Given the description of an element on the screen output the (x, y) to click on. 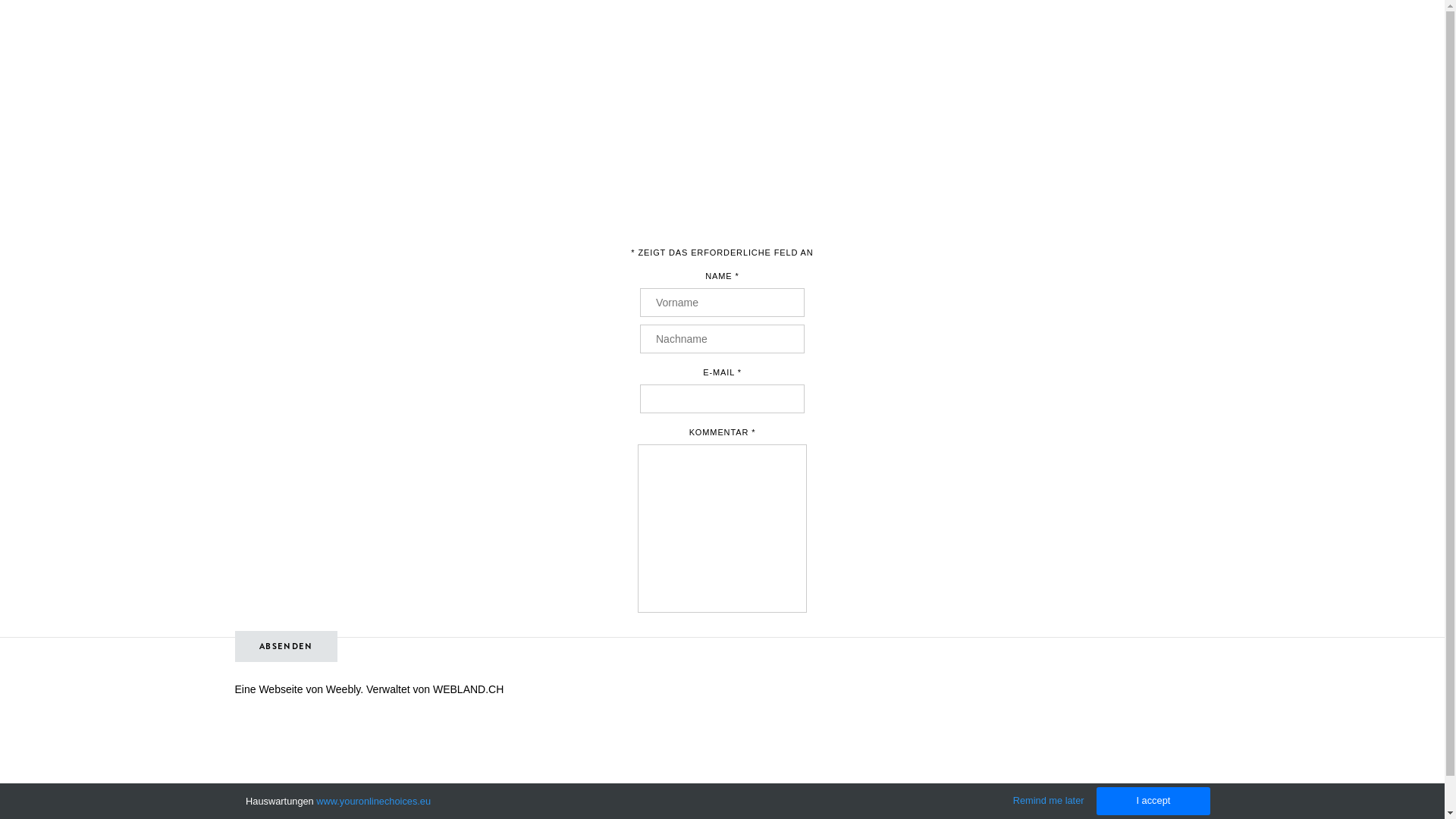
www.youronlinechoices.eu Element type: text (373, 800)
ABSENDEN Element type: text (286, 646)
I accept Element type: text (1153, 801)
Remind me later Element type: text (1048, 800)
WEBLAND.CH Element type: text (468, 689)
